Given the description of an element on the screen output the (x, y) to click on. 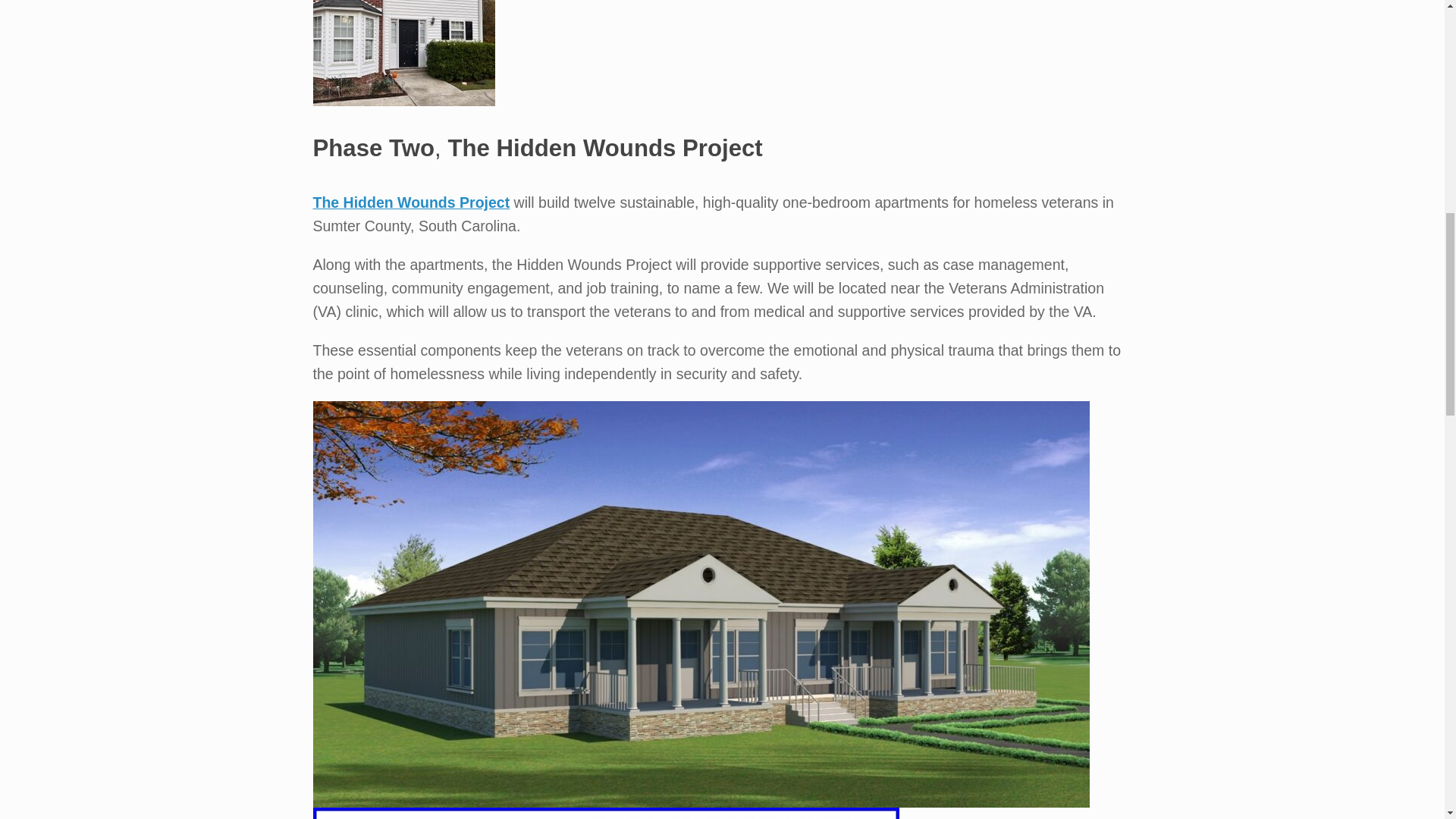
The Hidden Wounds Project (411, 202)
